Given the description of an element on the screen output the (x, y) to click on. 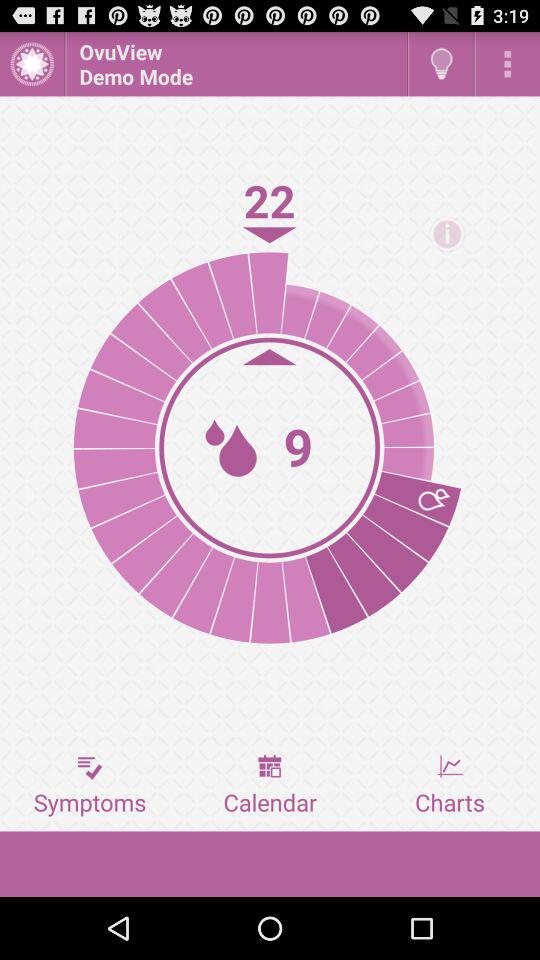
select button next to symptoms (270, 785)
